Given the description of an element on the screen output the (x, y) to click on. 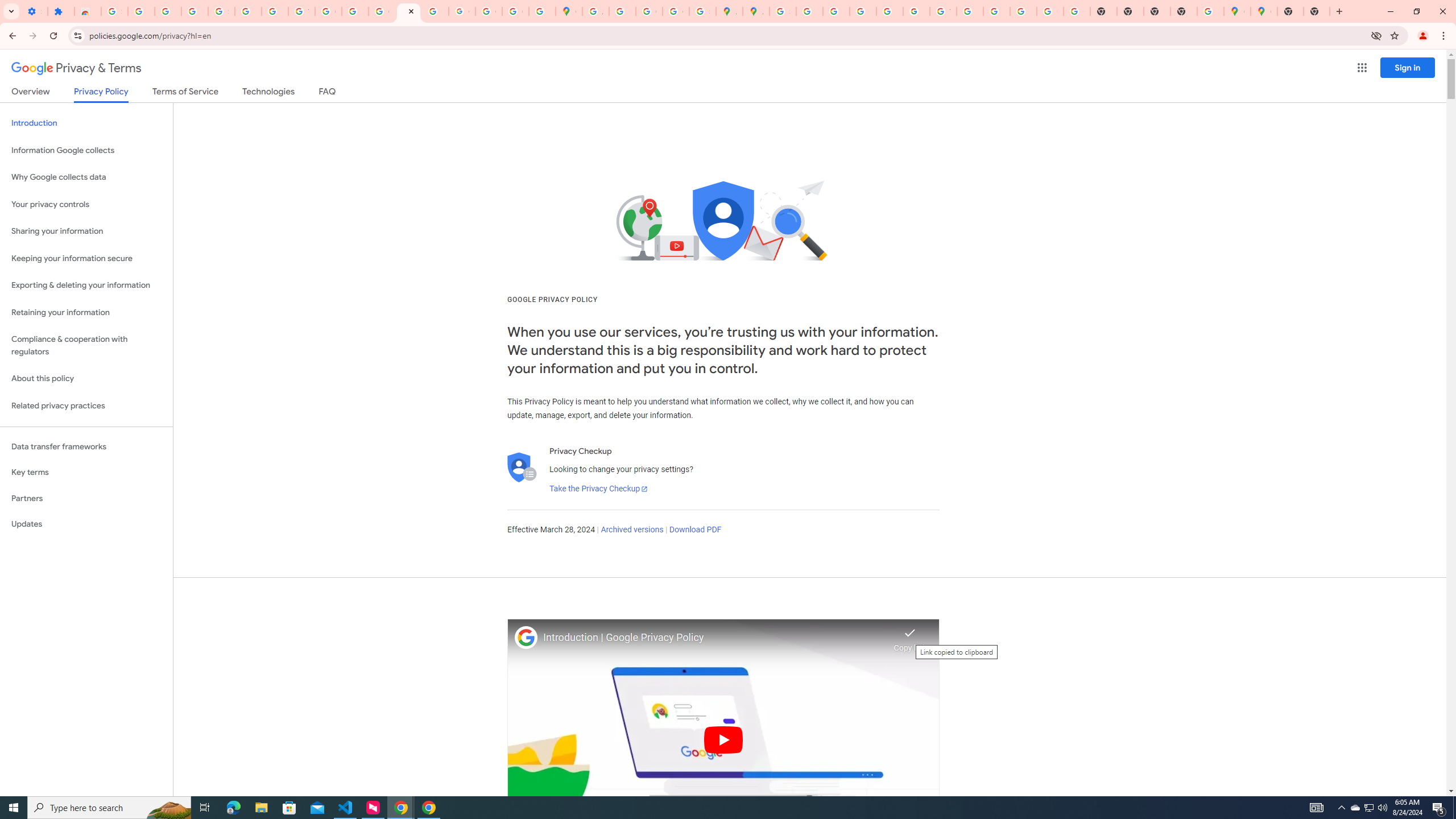
Privacy Help Center - Policies Help (862, 11)
Google Maps (1236, 11)
Archived versions (631, 529)
Partners (86, 497)
Introduction (86, 122)
Delete photos & videos - Computer - Google Photos Help (141, 11)
Photo image of Google (526, 636)
